Given the description of an element on the screen output the (x, y) to click on. 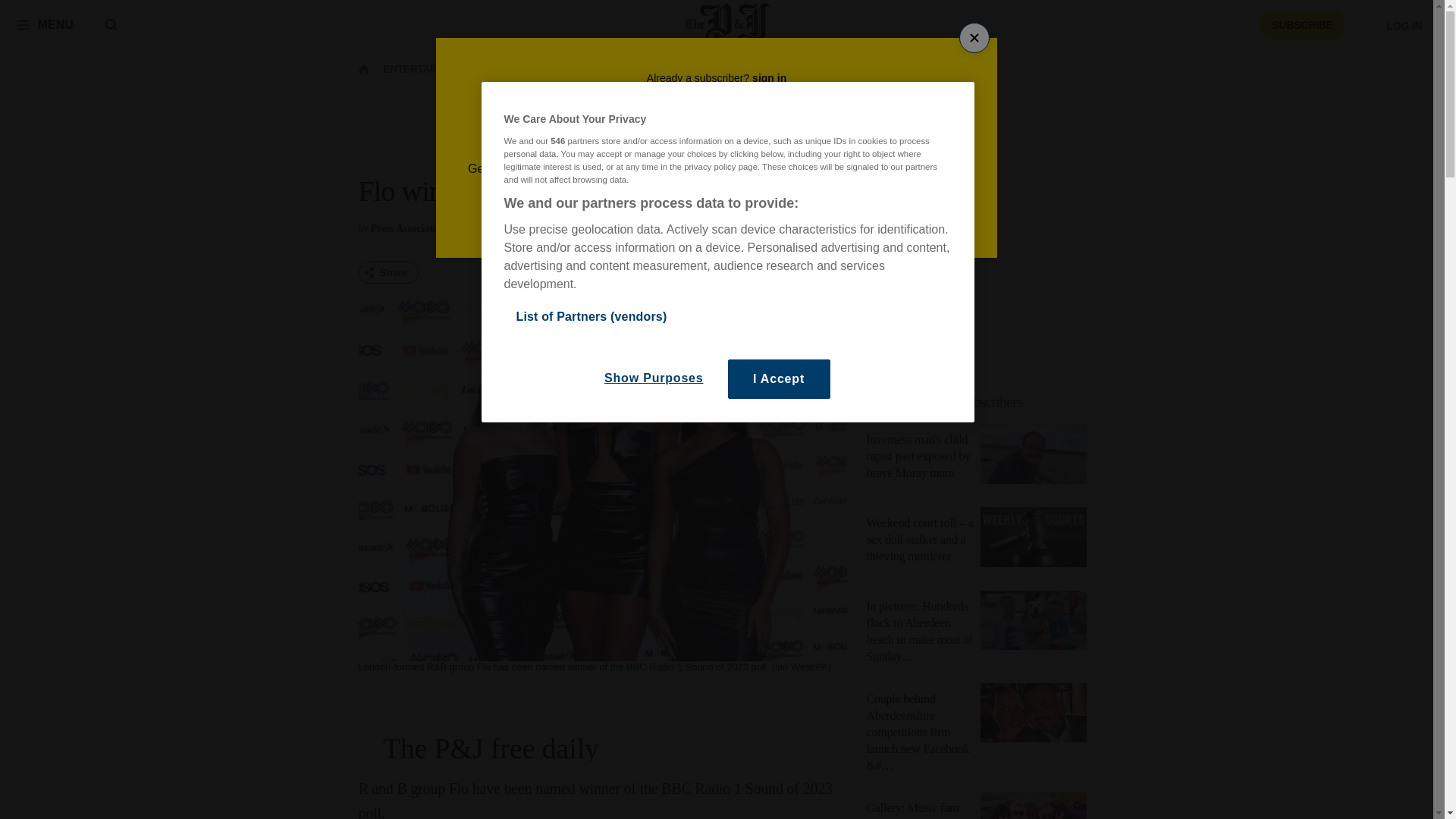
Exclusive to our subscribers (944, 402)
Inverness man's child rapist past exposed by brave Moray mum (917, 456)
MENU (44, 24)
Inverness man's child rapist past exposed by brave Moray mum (1032, 456)
Press and Journal (727, 24)
Exclusive to our subscribers (981, 402)
